Given the description of an element on the screen output the (x, y) to click on. 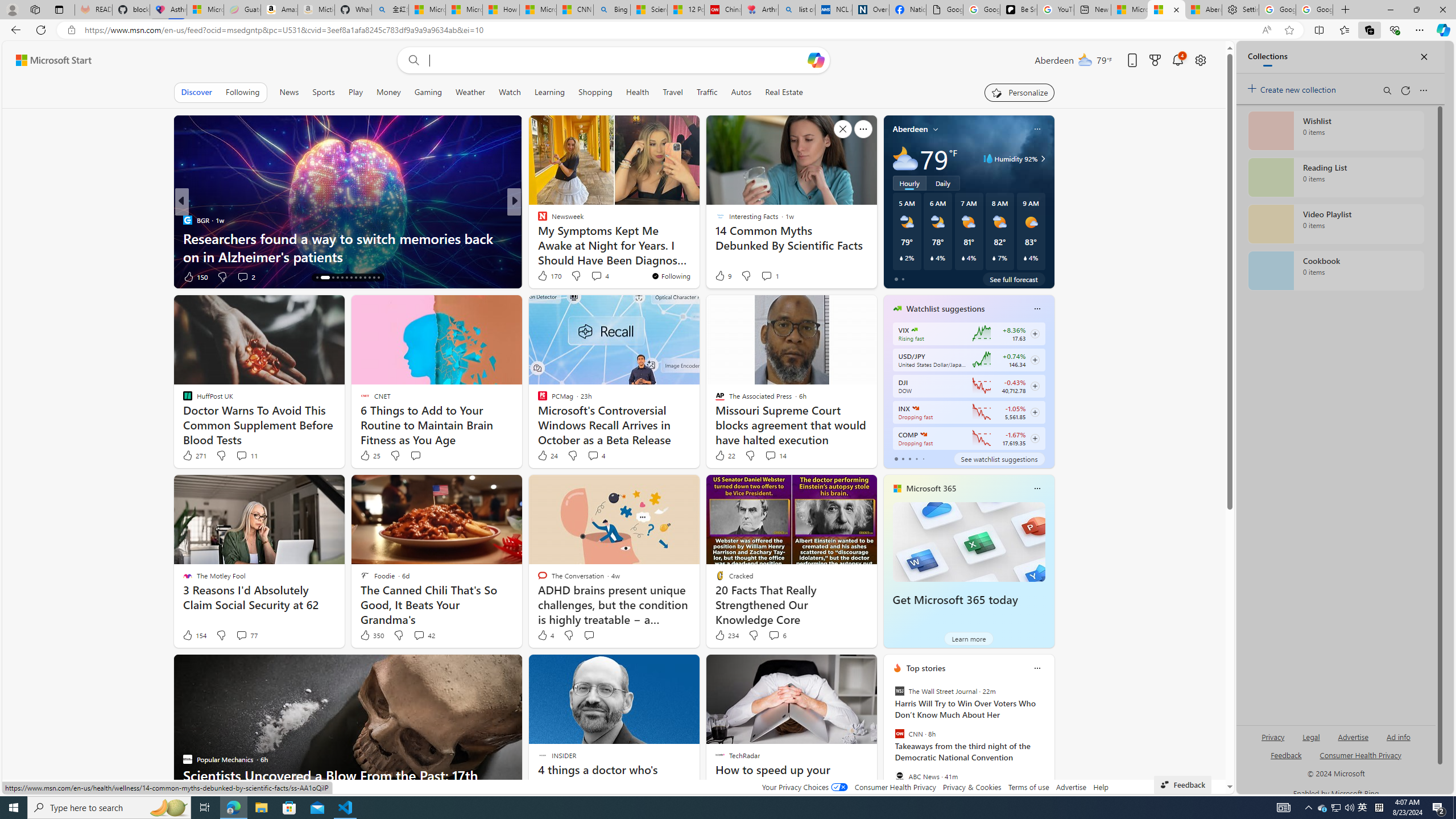
Daily (942, 183)
AutomationID: sb_feedback (1286, 754)
NASDAQ (923, 434)
See watchlist suggestions (999, 459)
ABC News (898, 775)
View comments 14 Comment (770, 455)
